Given the description of an element on the screen output the (x, y) to click on. 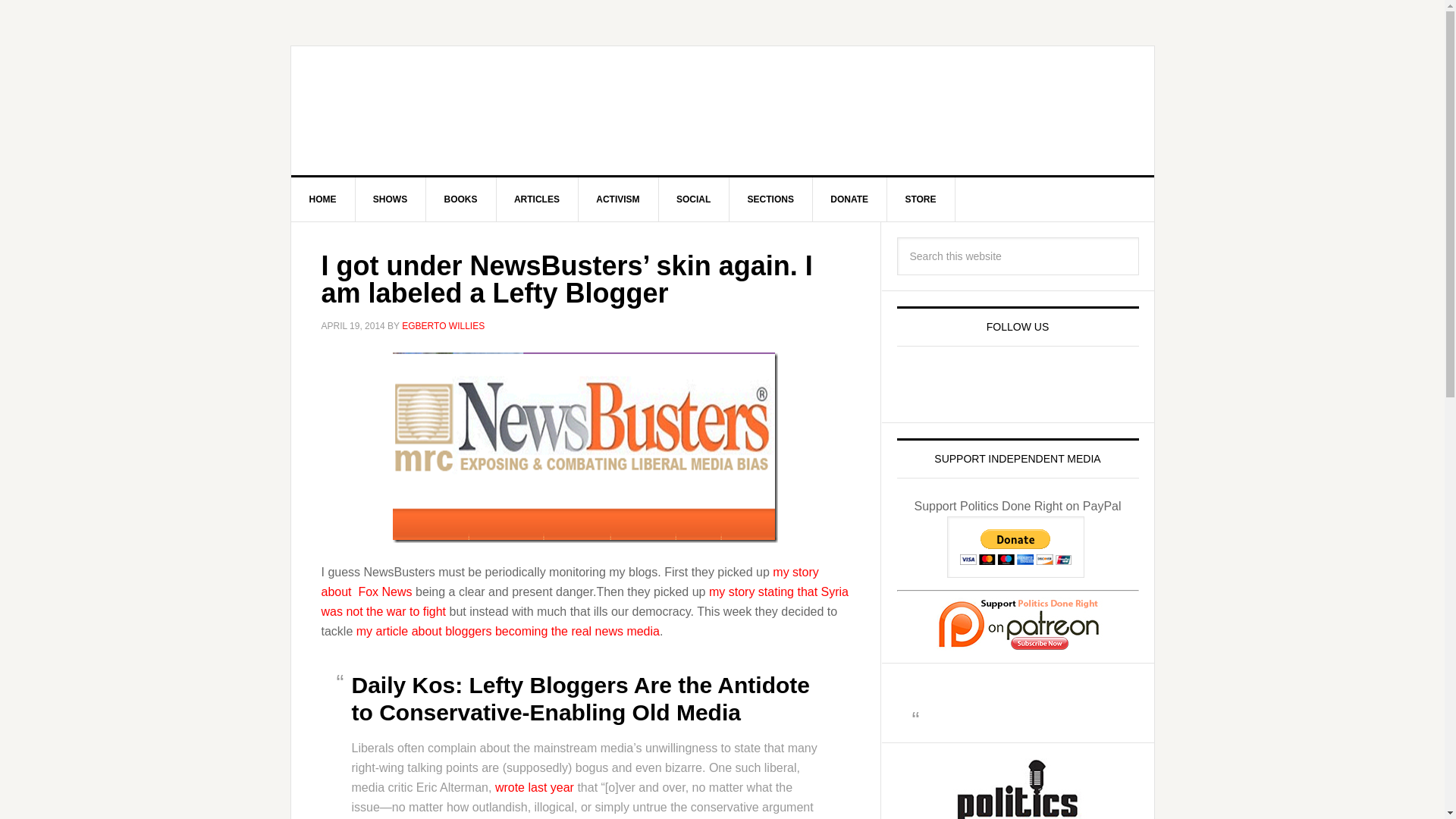
EGBERTOWILLIES.COM (419, 110)
ARTICLES (537, 199)
SHOWS (390, 199)
ACTIVISM (618, 199)
SOCIAL (693, 199)
BOOKS (461, 199)
HOME (323, 199)
image (585, 447)
PayPal - The safer, easier way to pay online! (1015, 547)
